Given the description of an element on the screen output the (x, y) to click on. 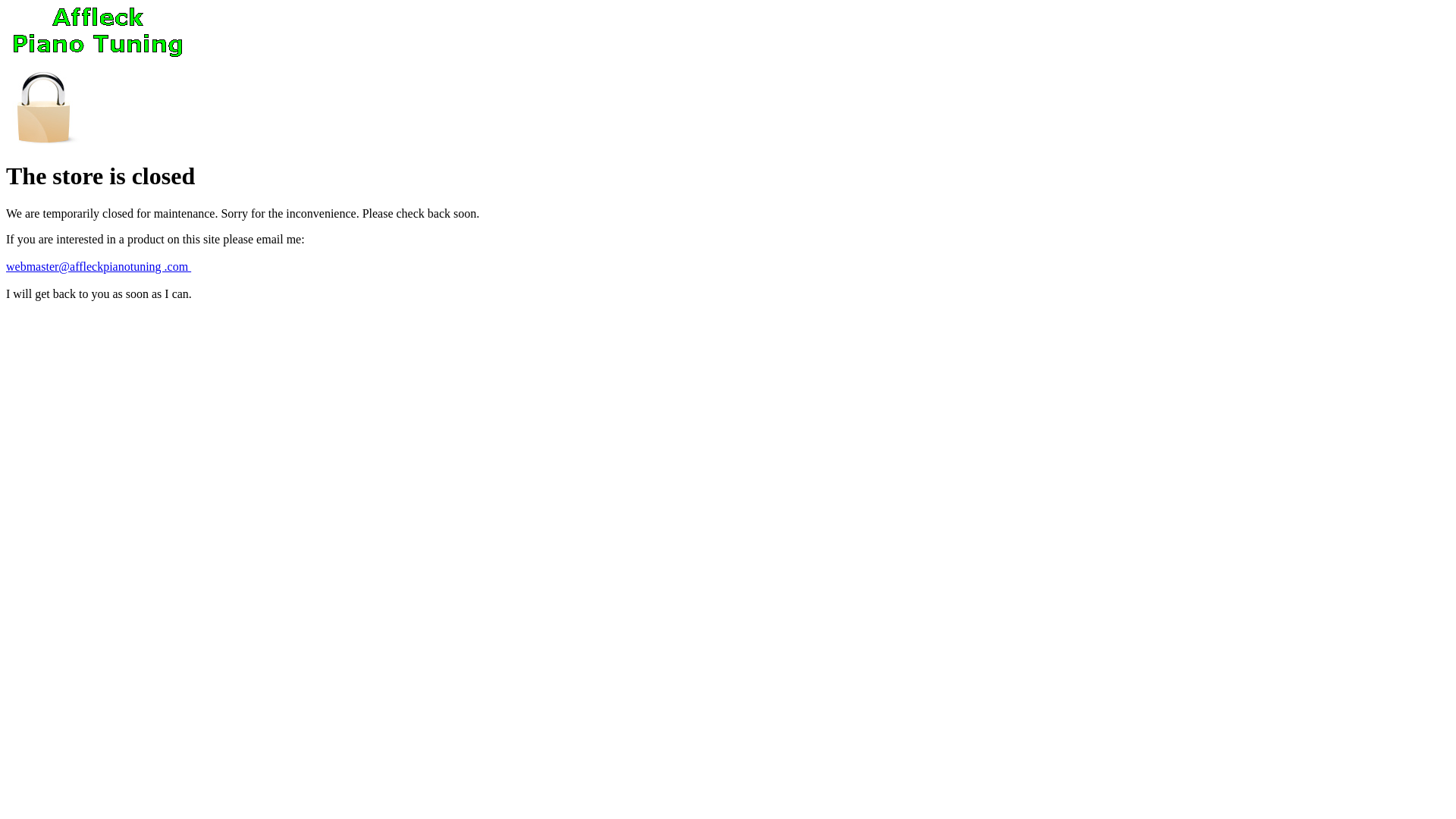
webmaster@affleckpianotuning .com  Element type: text (98, 266)
